Given the description of an element on the screen output the (x, y) to click on. 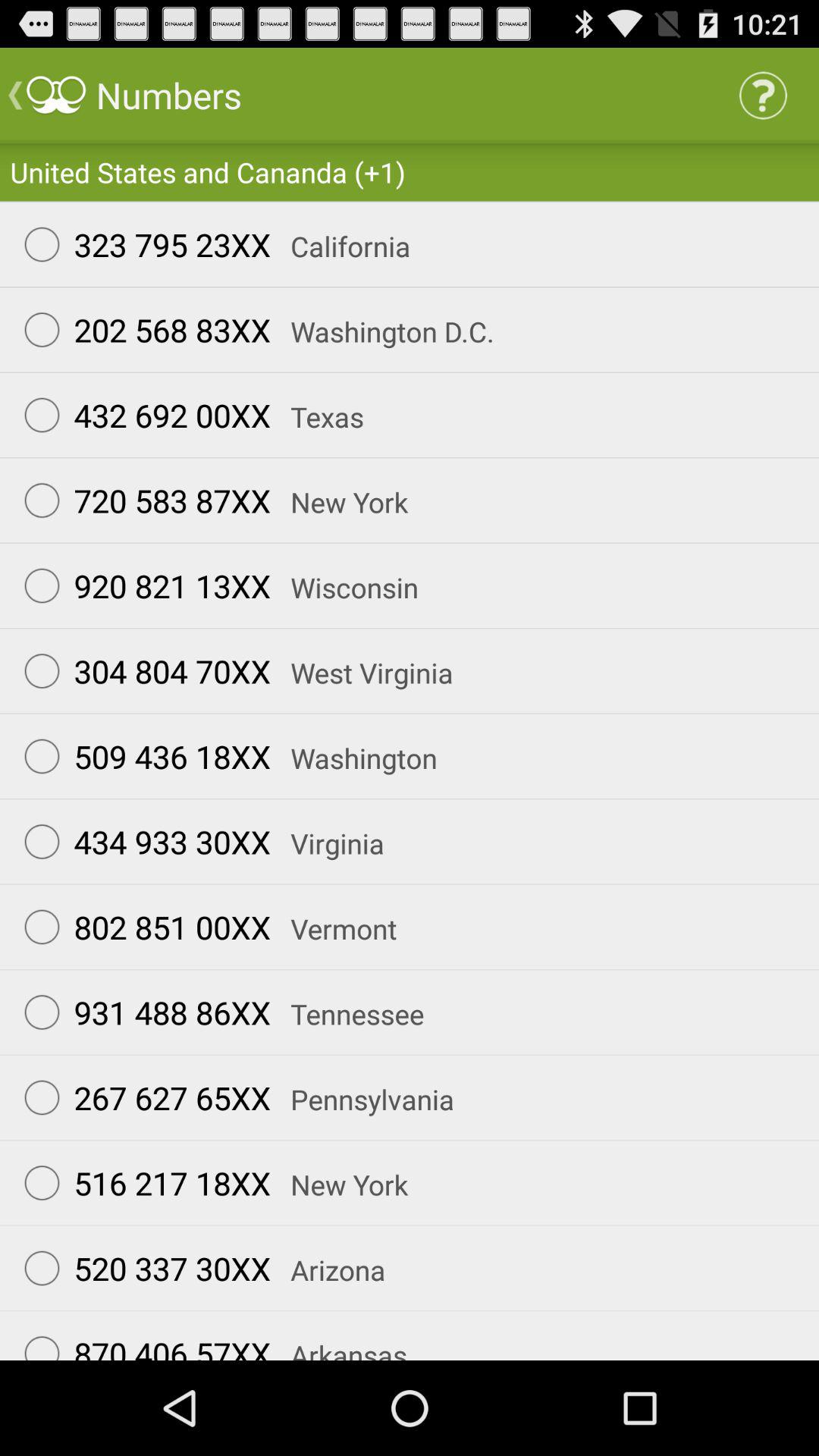
click item above 720 583 87xx (140, 415)
